Given the description of an element on the screen output the (x, y) to click on. 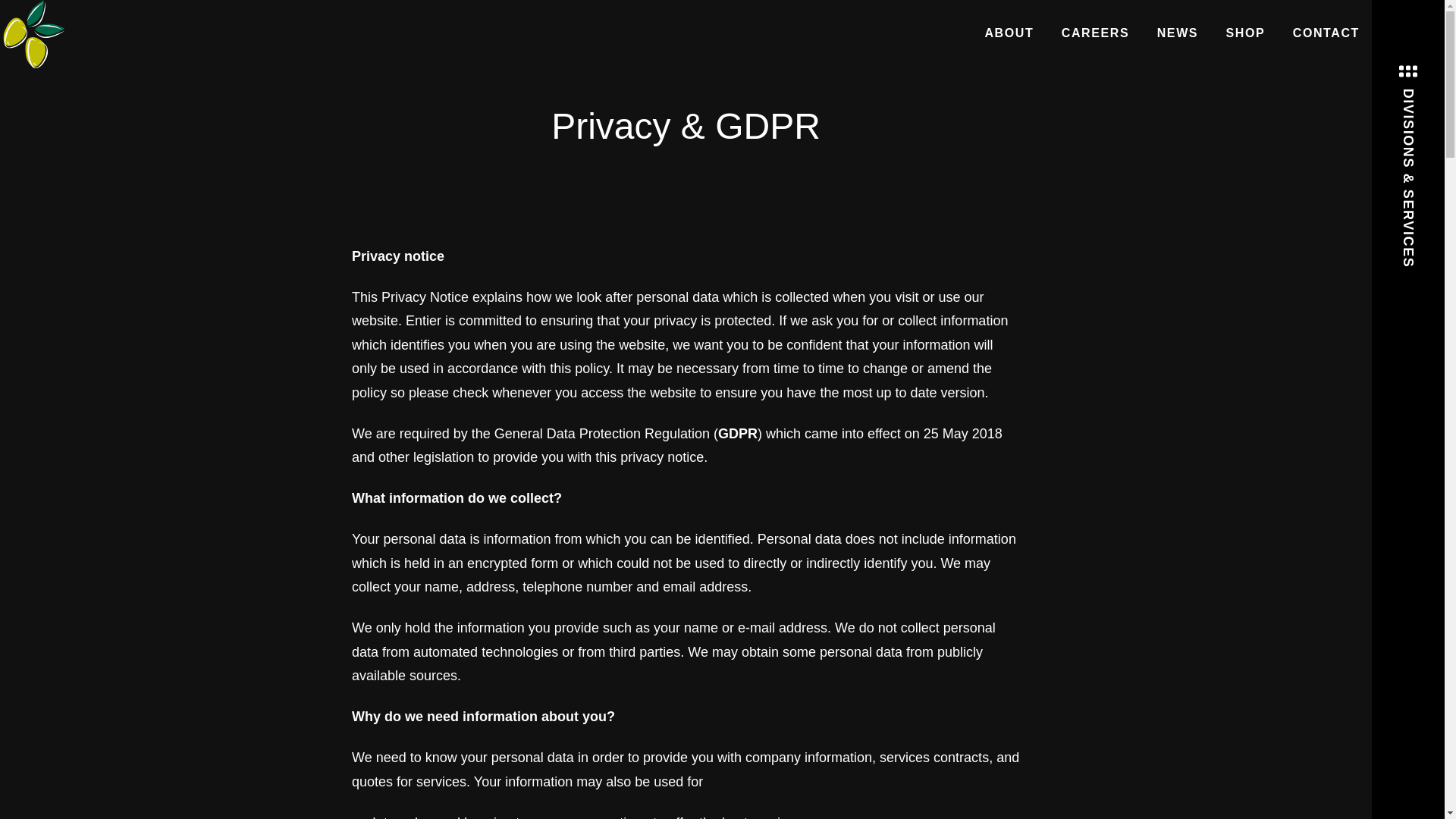
SHOP (1246, 32)
Entier (34, 33)
CONTACT (1326, 32)
ABOUT (1008, 32)
CAREERS (1095, 32)
NEWS (1176, 32)
